Given the description of an element on the screen output the (x, y) to click on. 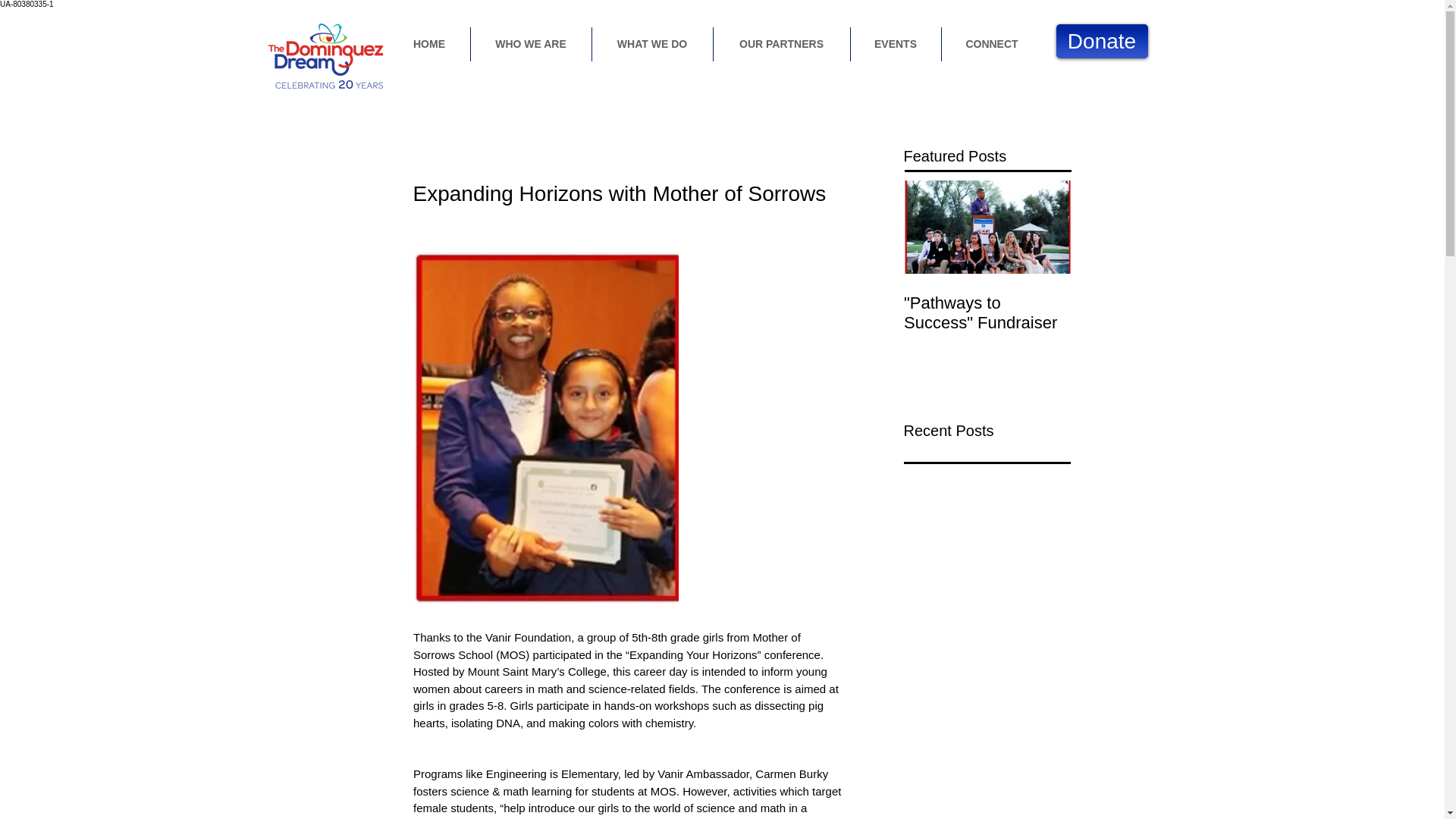
WHO WE ARE (530, 44)
CONNECT (992, 44)
EVENTS (895, 44)
OUR PARTNERS (780, 44)
HOME (428, 44)
"Pathways to Success" Fundraiser (987, 312)
WHAT WE DO (651, 44)
Donate (1101, 41)
